Given the description of an element on the screen output the (x, y) to click on. 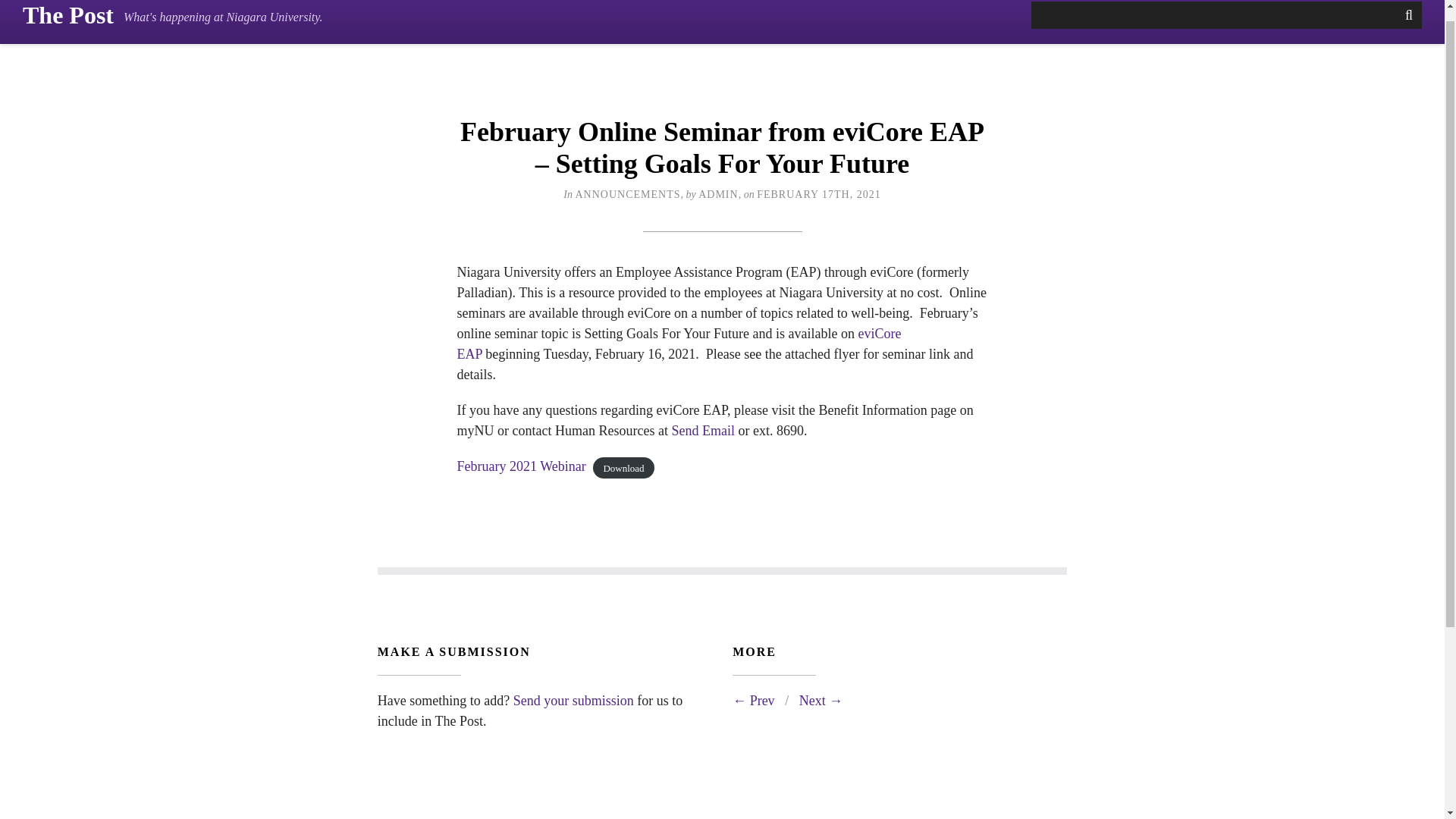
The Post (68, 14)
February 2021 Webinar (521, 466)
ANNOUNCEMENTS (627, 194)
Download (622, 467)
Posts by Admin (718, 194)
Send Email (703, 430)
Send your submission (573, 700)
ADMIN (718, 194)
The Post (68, 14)
eviCore EAP (679, 343)
